Given the description of an element on the screen output the (x, y) to click on. 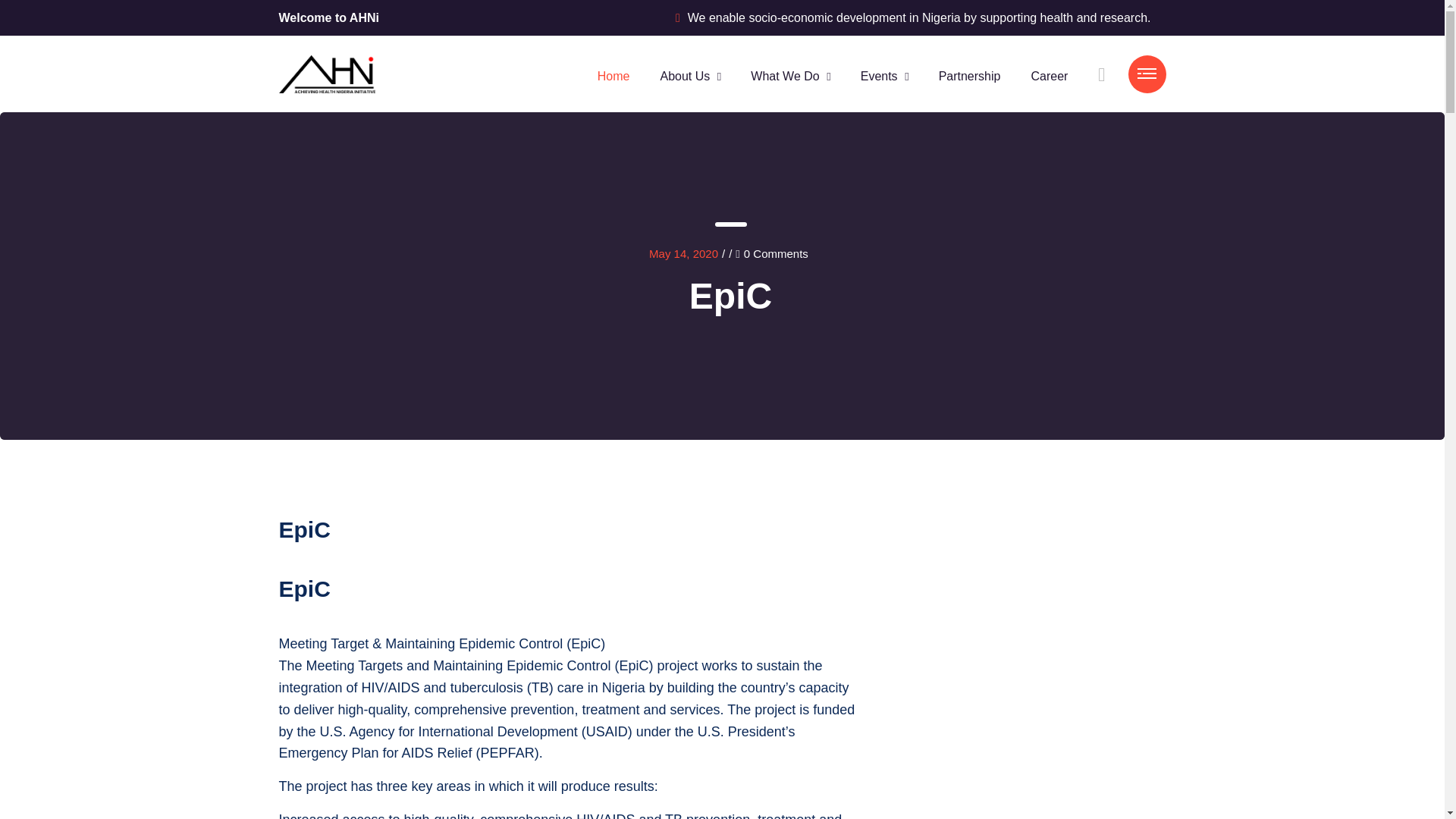
Partnership (970, 76)
What We Do (784, 76)
Events (879, 76)
What We Do (784, 76)
Home (613, 76)
Home (613, 76)
Events (879, 76)
Career (1048, 76)
About Us (684, 76)
About Us (684, 76)
